Given the description of an element on the screen output the (x, y) to click on. 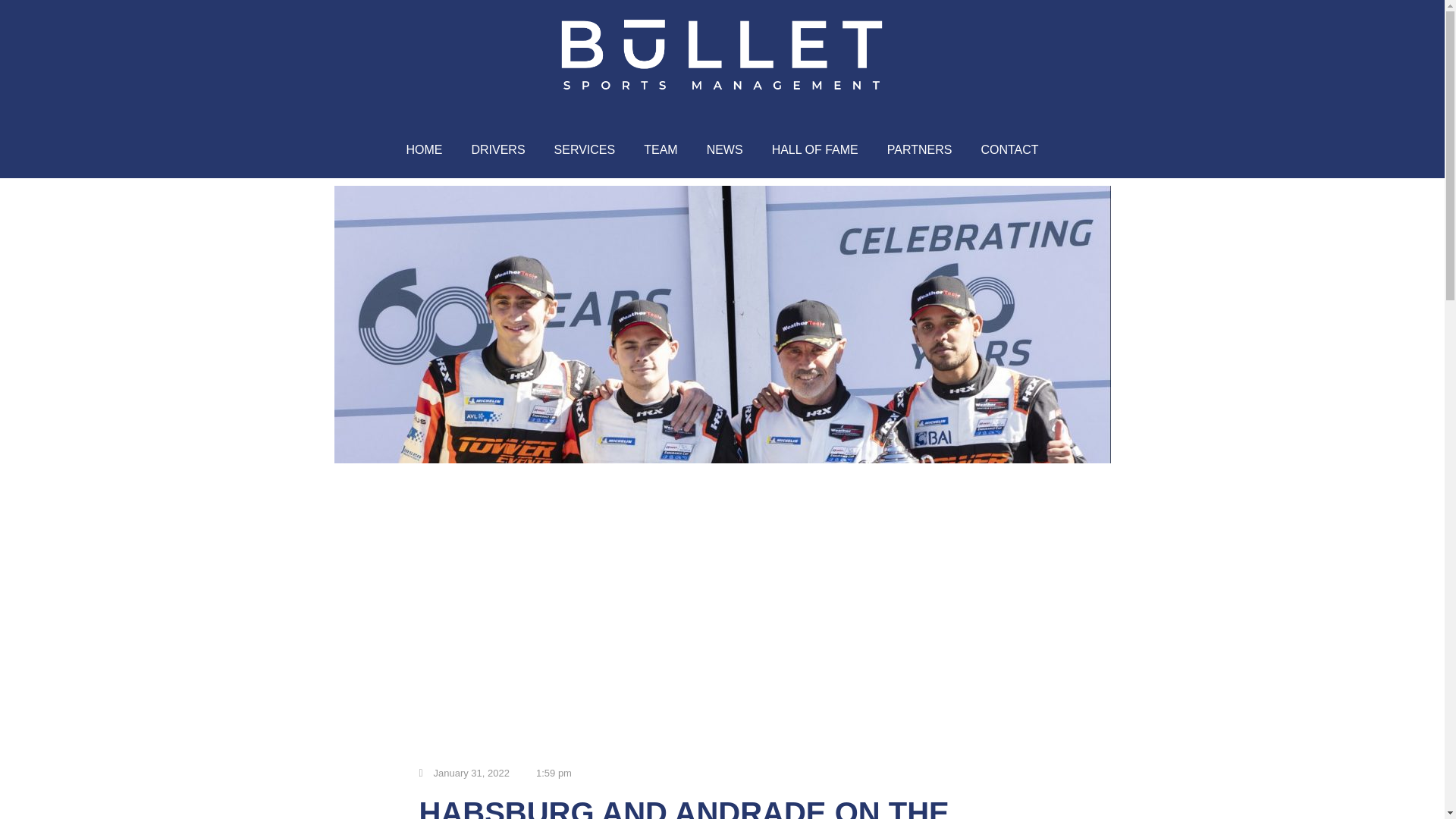
DRIVERS (497, 149)
HOME (424, 149)
TEAM (659, 149)
SERVICES (585, 149)
NEWS (725, 149)
CONTACT (1009, 149)
PARTNERS (919, 149)
HALL OF FAME (814, 149)
